Given the description of an element on the screen output the (x, y) to click on. 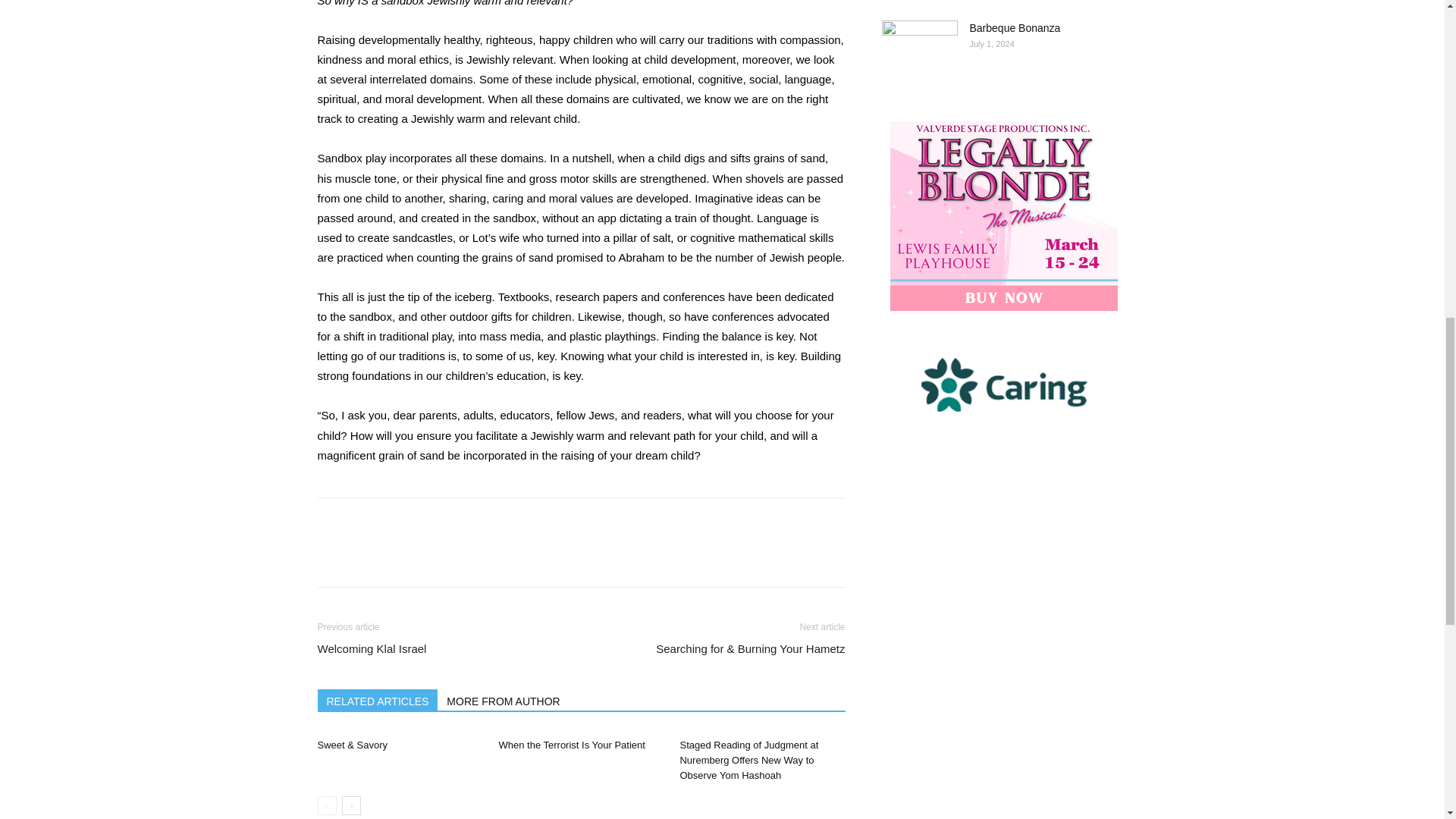
Welcoming Klal Israel (371, 648)
When the Terrorist Is Your Patient (571, 745)
